Given the description of an element on the screen output the (x, y) to click on. 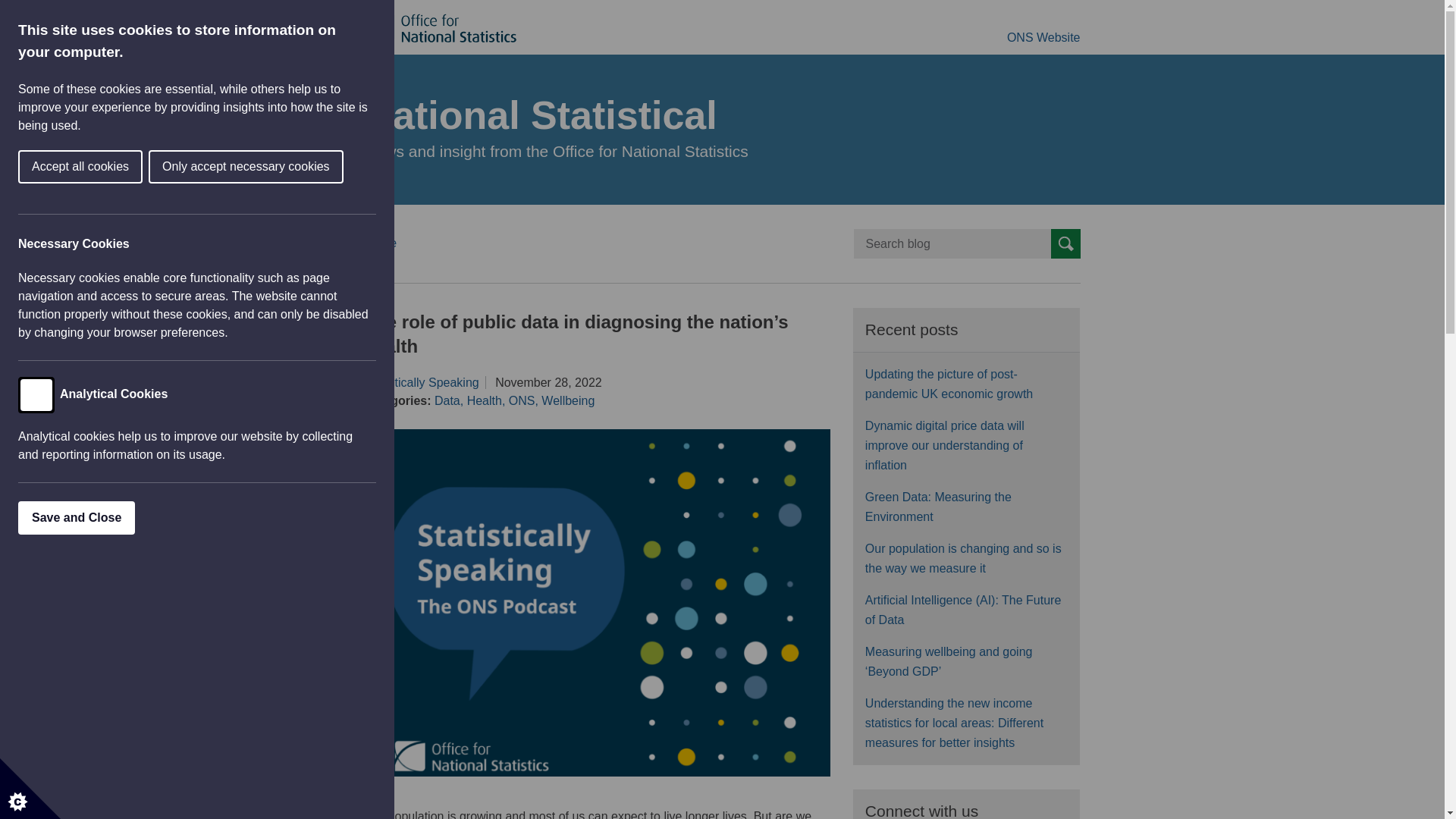
Green Data: Measuring the Environment (937, 506)
Updating the picture of post-pandemic UK economic growth (948, 383)
Only accept necessary cookies (18, 166)
ONS Website (1043, 37)
Search (1065, 243)
Our population is changing and so is the way we measure it (962, 558)
Home (383, 242)
Wellbeing (567, 400)
Data (446, 400)
